Given the description of an element on the screen output the (x, y) to click on. 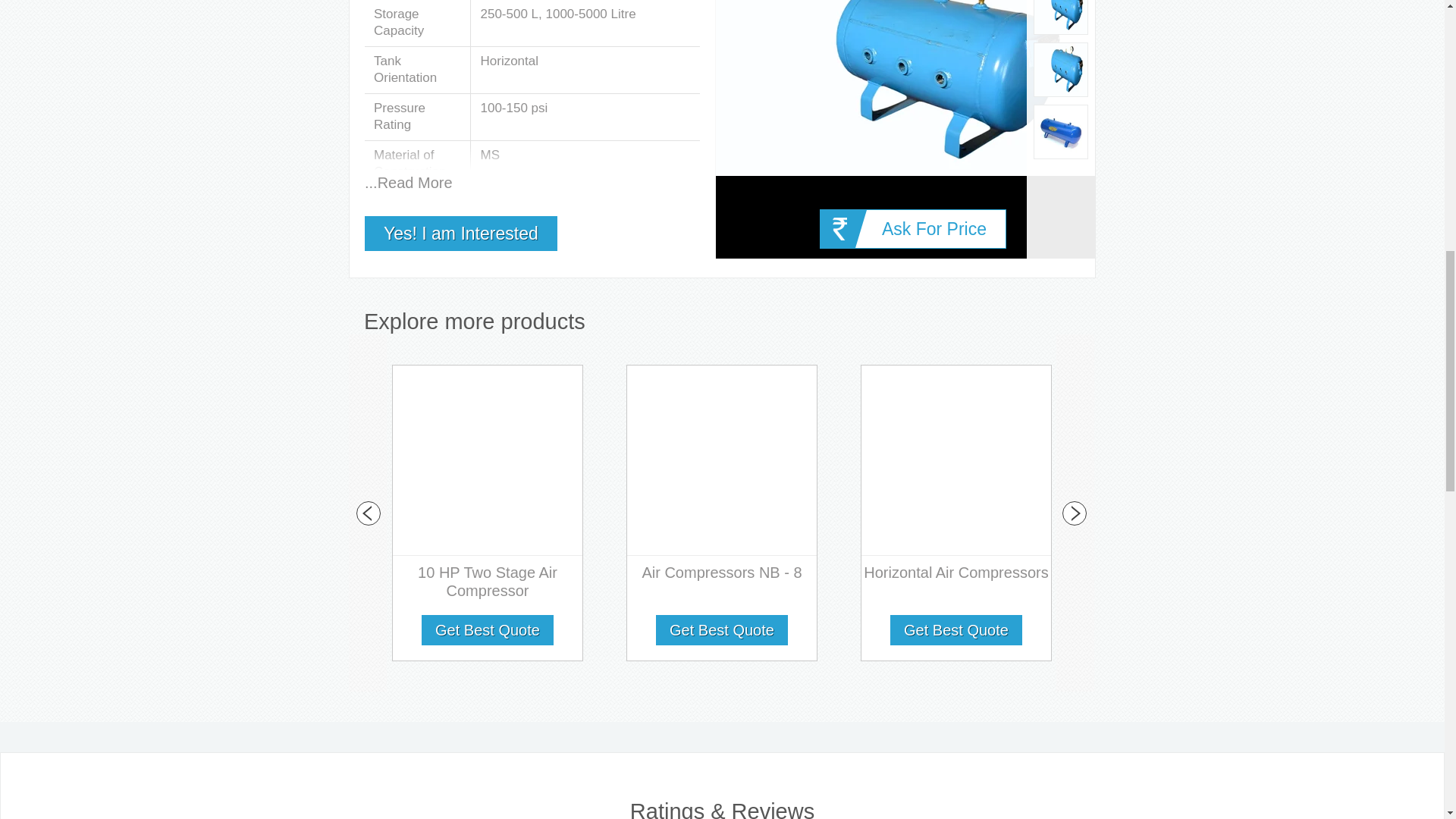
Air Compressors NB - 8 (721, 576)
Horizontal Air Compressors (956, 576)
10 HP Two Stage Air Compressor (487, 585)
